Given the description of an element on the screen output the (x, y) to click on. 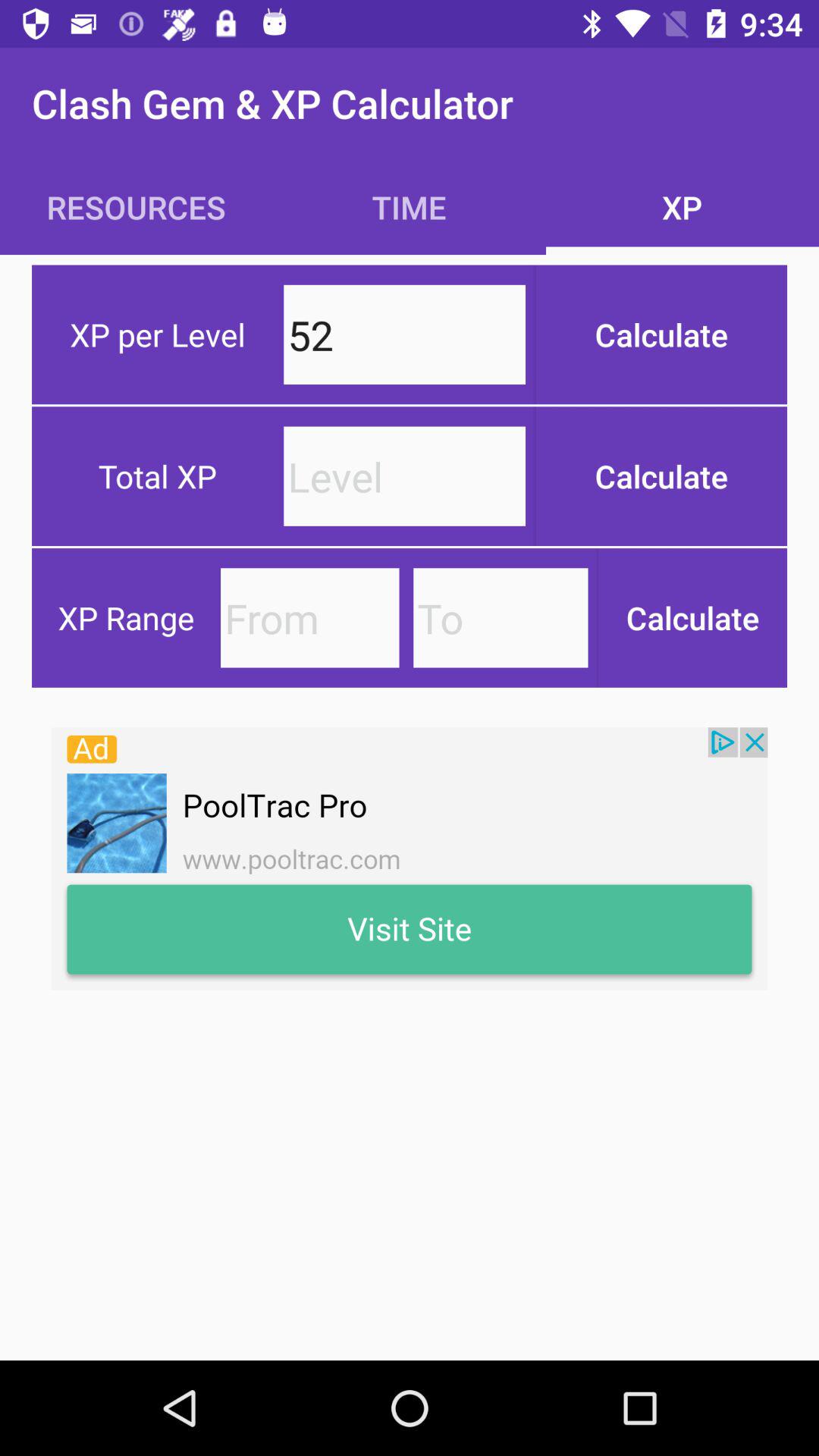
enter to xp range (500, 617)
